Given the description of an element on the screen output the (x, y) to click on. 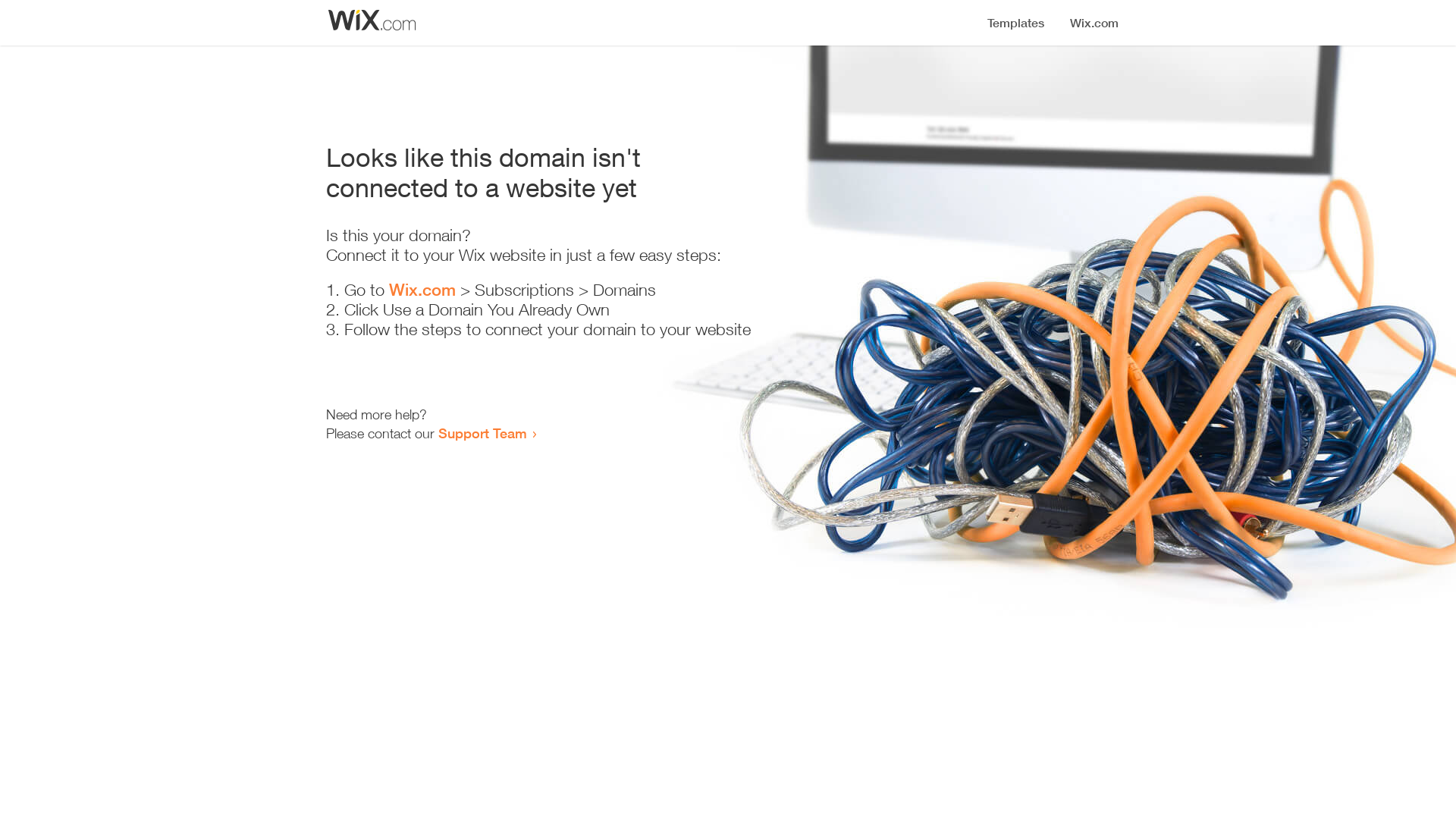
Wix.com Element type: text (422, 289)
Support Team Element type: text (482, 432)
